Given the description of an element on the screen output the (x, y) to click on. 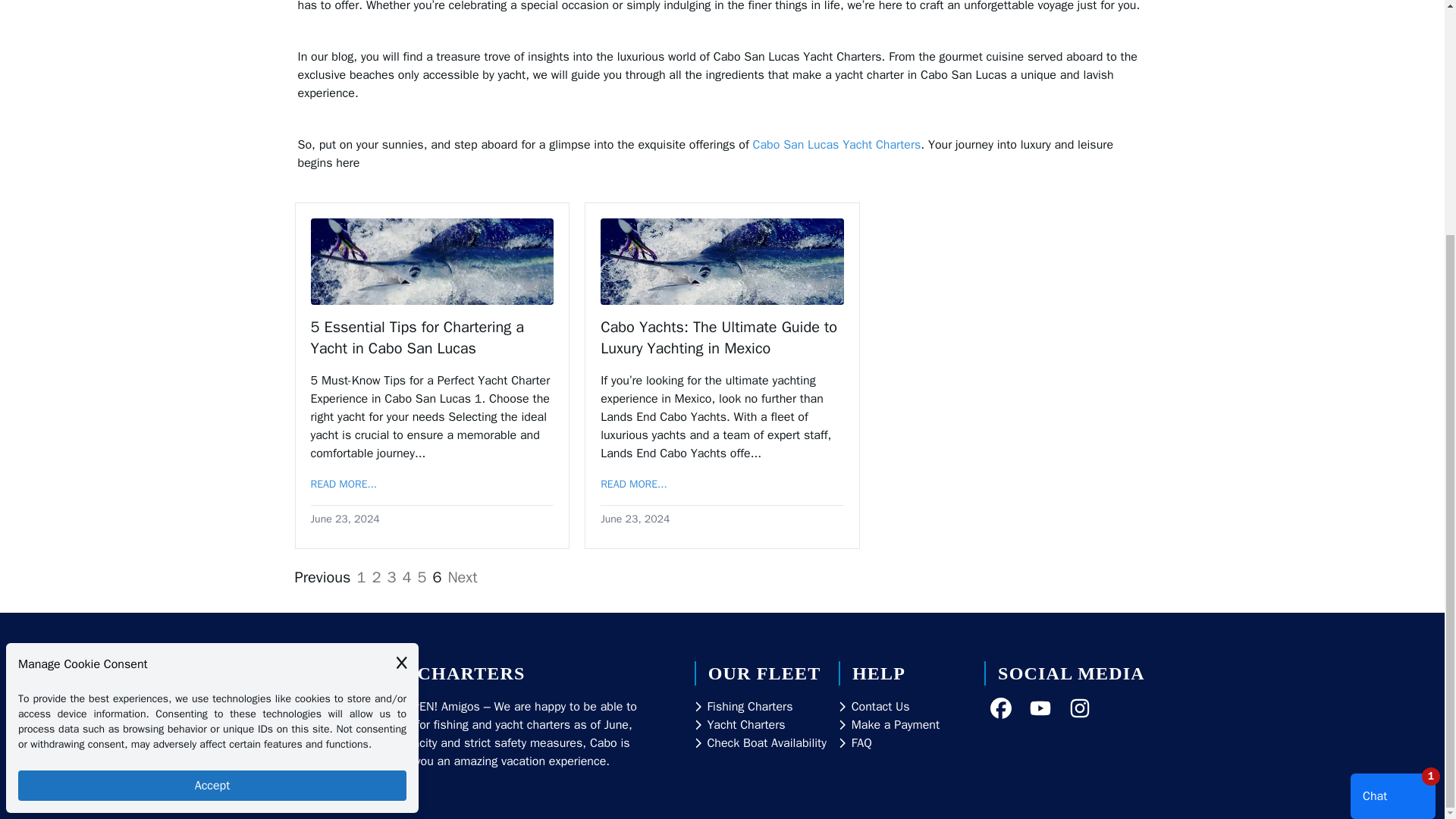
Fishing Charters (749, 706)
READ MORE... (344, 483)
5 Essential Tips for Chartering a Yacht in Cabo San Lucas (432, 337)
Cabo San Lucas Yacht Charters (836, 143)
READ MORE... (632, 483)
Cabo Yachts: The Ultimate Guide to Luxury Yachting in Mexico (721, 337)
Yacht Charters (745, 724)
Previous (322, 577)
